Given the description of an element on the screen output the (x, y) to click on. 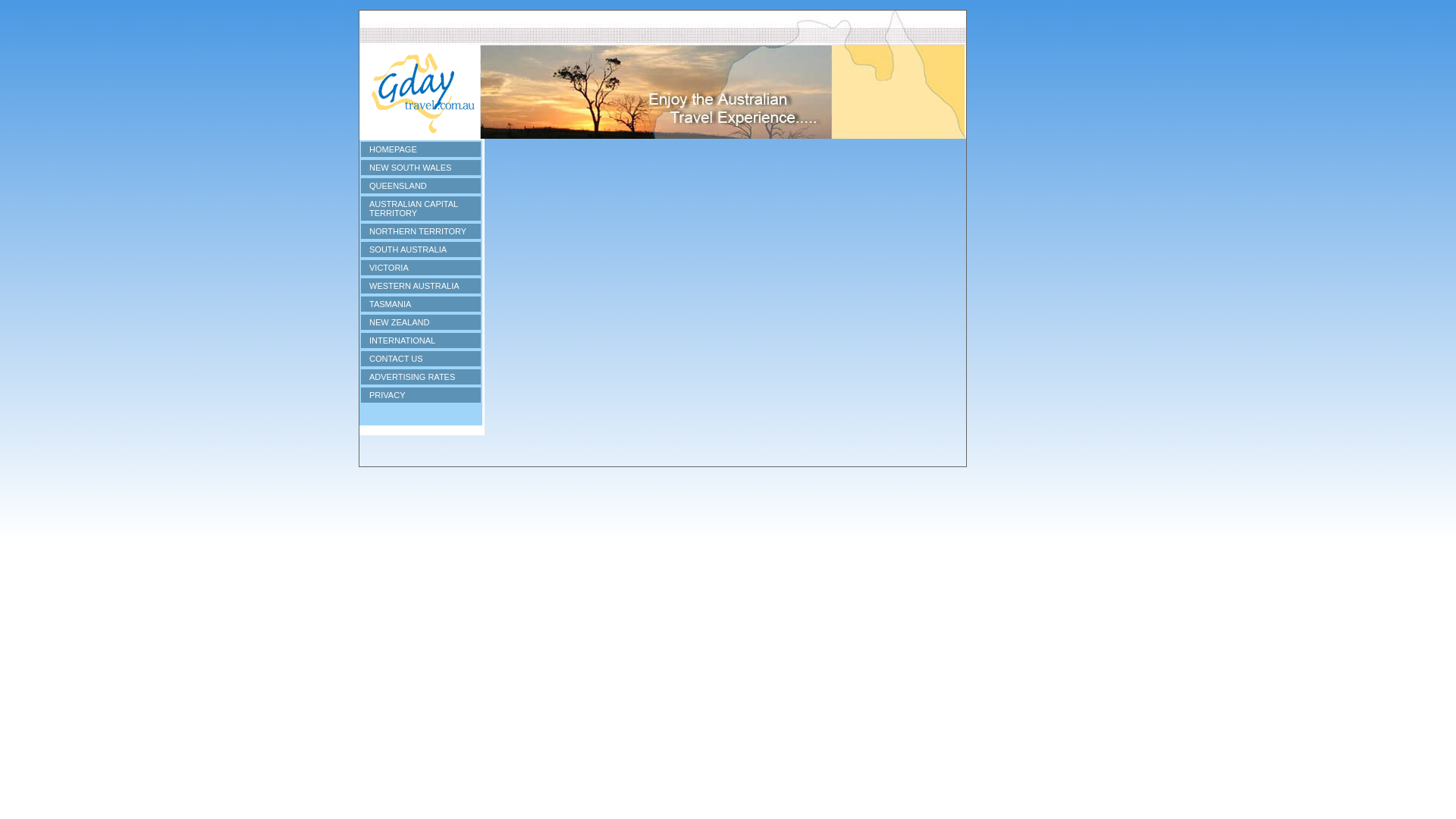
HOMEPAGE (420, 149)
PRIVACY (420, 394)
NEW SOUTH WALES (420, 167)
QUEENSLAND (420, 185)
WESTERN AUSTRALIA (420, 285)
INTERNATIONAL (420, 340)
ADVERTISING RATES (420, 376)
CONTACT US (420, 358)
SOUTH AUSTRALIA (420, 249)
AUSTRALIAN CAPITAL TERRITORY (420, 208)
